Given the description of an element on the screen output the (x, y) to click on. 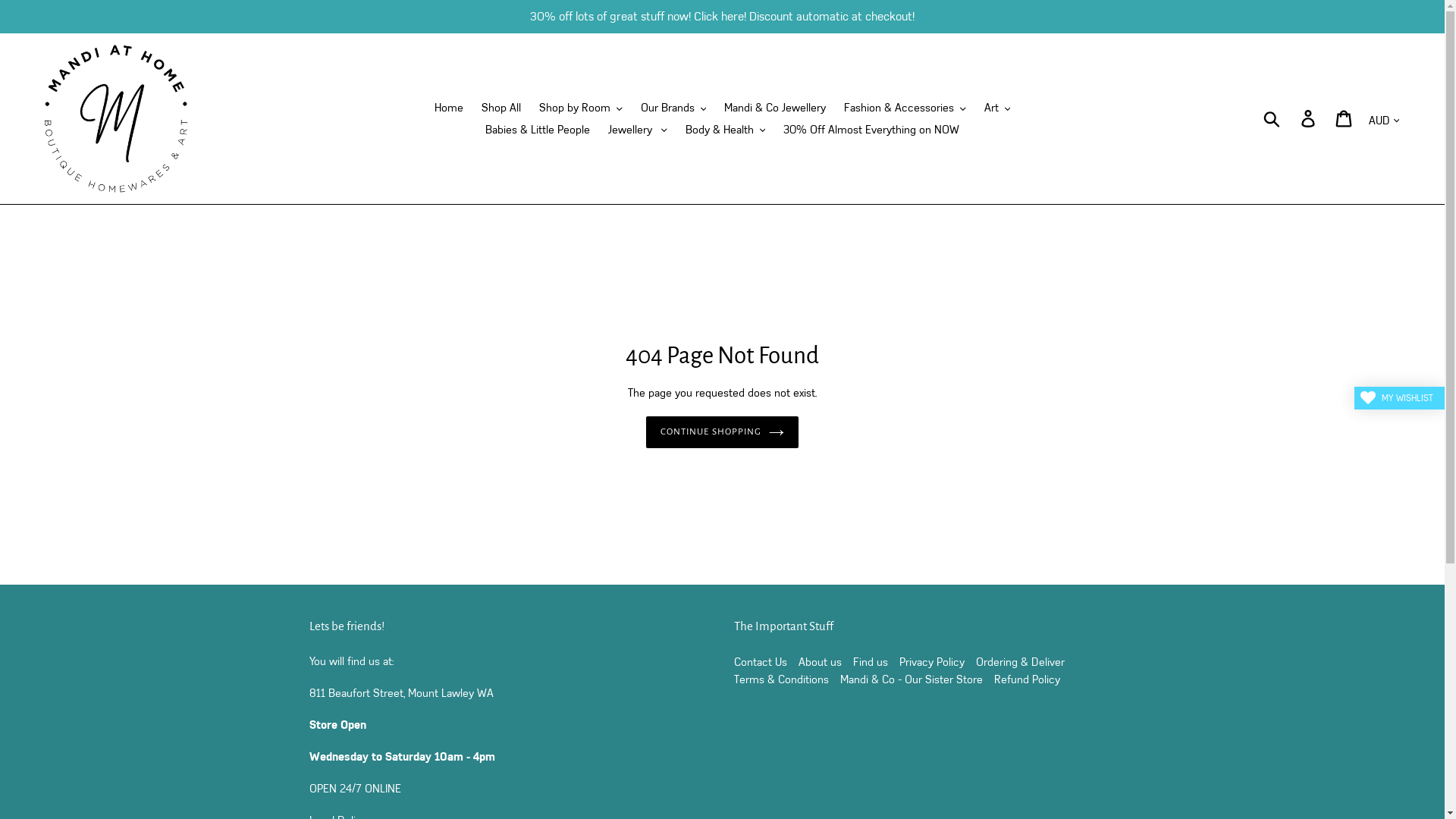
Log in Element type: text (1309, 118)
Cart Element type: text (1344, 118)
MY WISHLIST Element type: text (1399, 397)
Babies & Little People Element type: text (537, 129)
Mandi & Co - Our Sister Store Element type: text (911, 678)
Submit Element type: text (1272, 117)
Shop All Element type: text (500, 108)
CONTINUE SHOPPING Element type: text (722, 432)
Home Element type: text (448, 108)
Mandi & Co Jewellery Element type: text (774, 108)
Contact Us Element type: text (760, 661)
Ordering & Deliver Element type: text (1019, 661)
Privacy Policy Element type: text (931, 661)
About us Element type: text (818, 661)
Refund Policy Element type: text (1026, 678)
Terms & Conditions Element type: text (781, 678)
30% Off Almost Everything on NOW Element type: text (870, 129)
Find us Element type: text (869, 661)
